Given the description of an element on the screen output the (x, y) to click on. 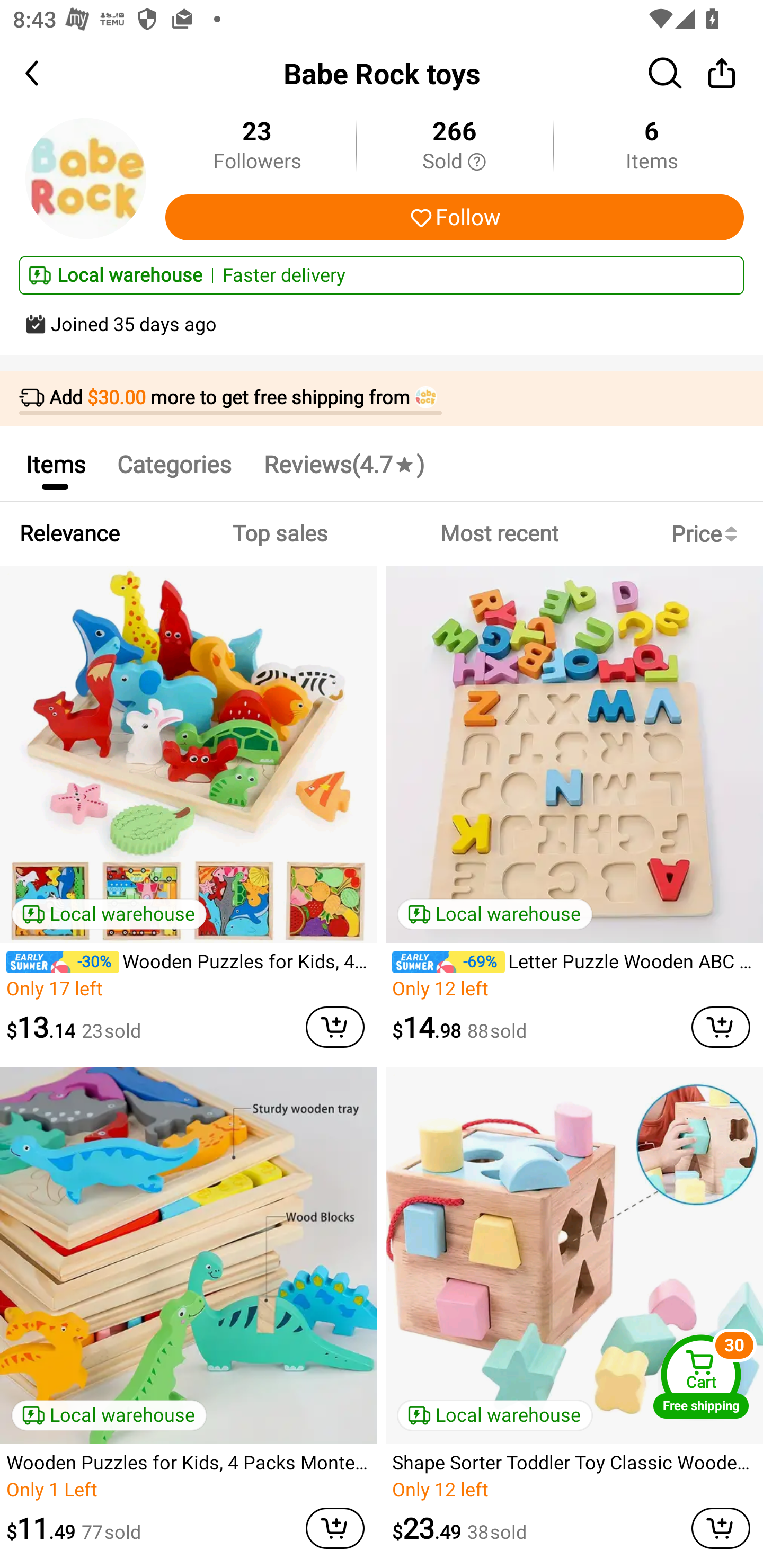
back (47, 72)
Babe Rock toys (381, 72)
share (721, 72)
Sold (453, 161)
Local warehouse Faster delivery (381, 275)
 Add $30.00 more to get free shipping from  (381, 398)
Items (55, 463)
Categories (174, 463)
Reviews(4.7 ) (343, 463)
Relevance (69, 533)
Top sales (279, 533)
Most recent (498, 533)
Price (707, 533)
Cart Free shipping Cart (701, 1375)
